Given the description of an element on the screen output the (x, y) to click on. 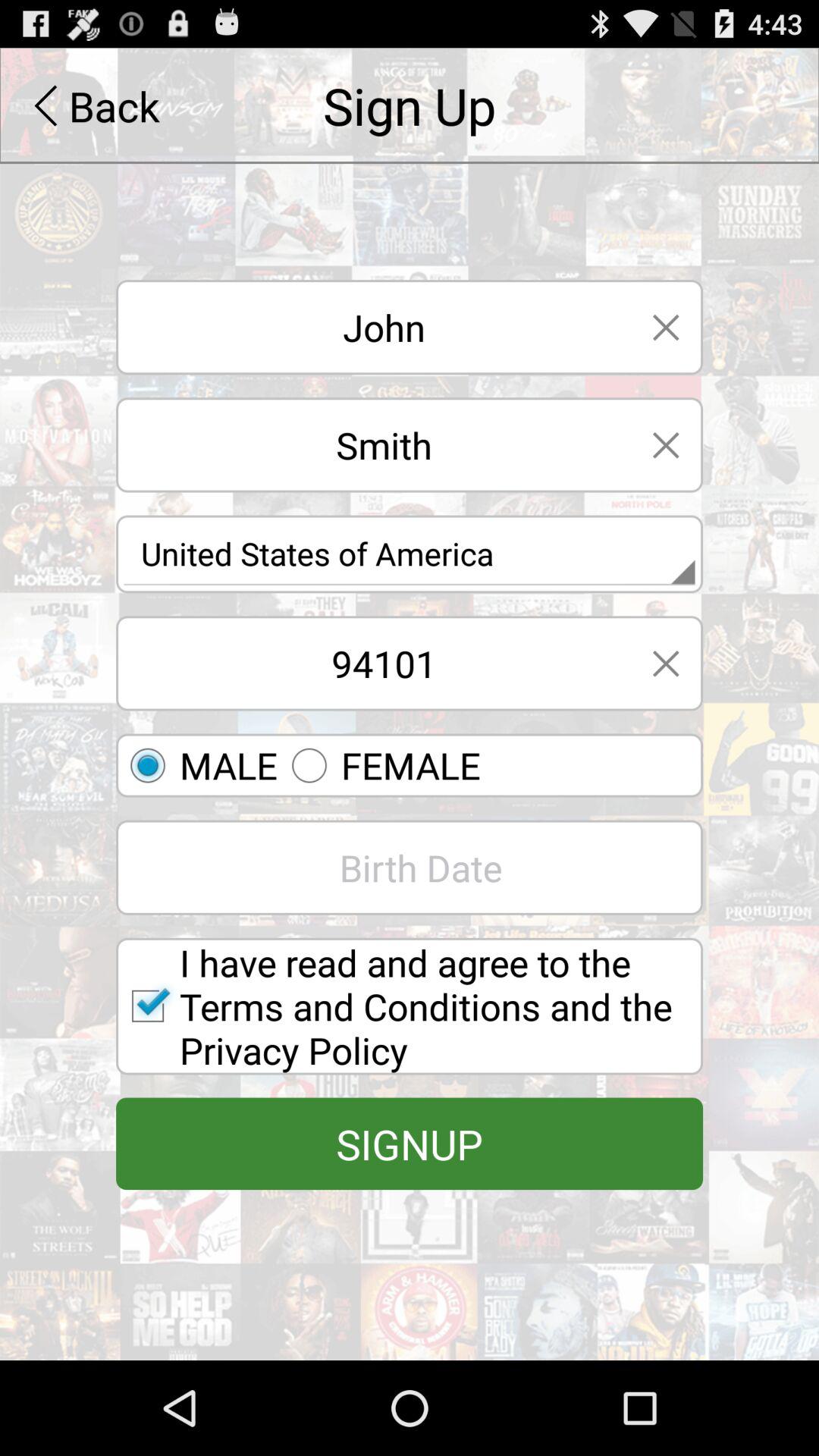
x (665, 663)
